Given the description of an element on the screen output the (x, y) to click on. 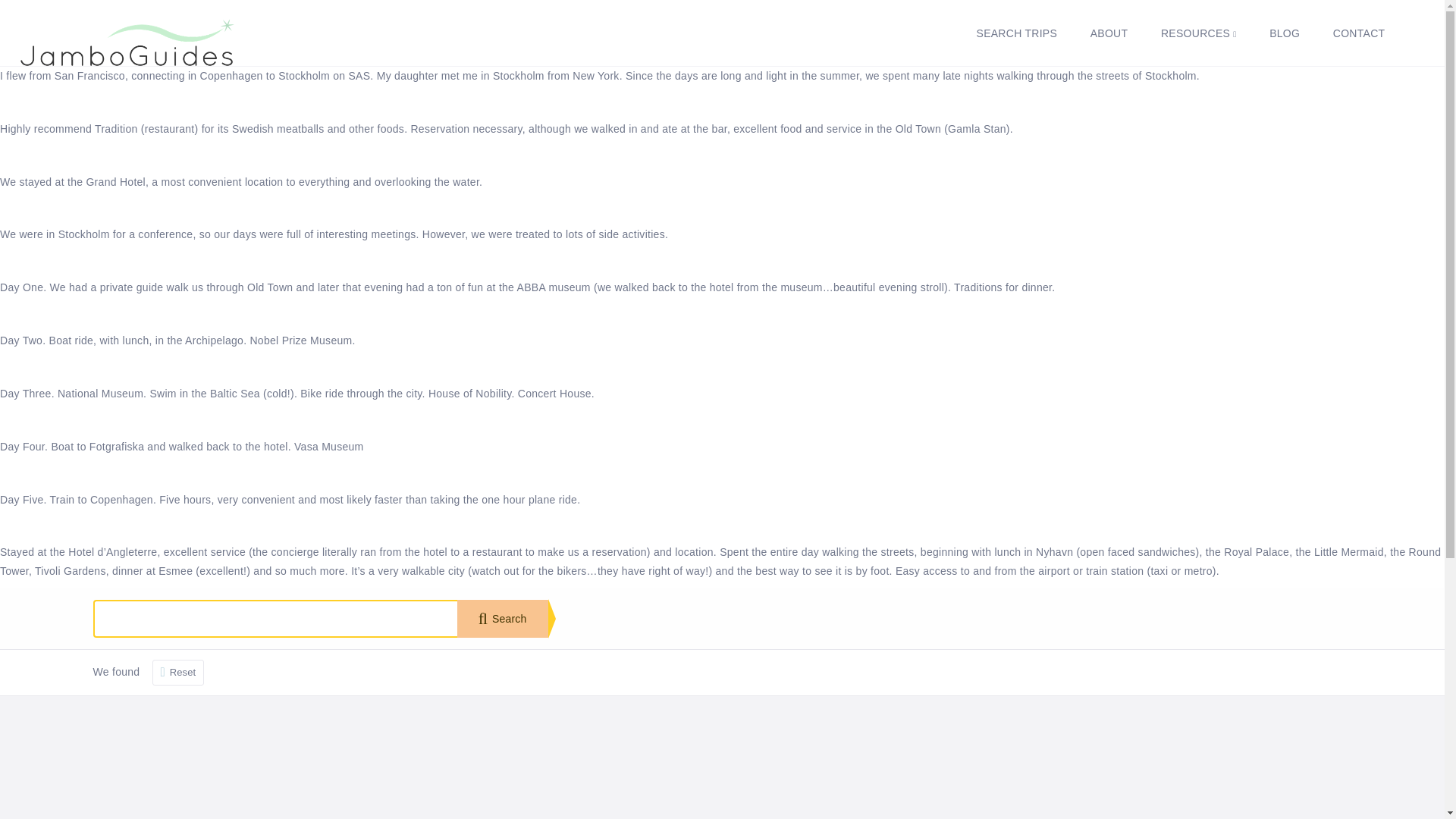
SEARCH TRIPS (1016, 33)
CONTACT (1358, 33)
Search (502, 618)
ABOUT (1108, 33)
Reset (178, 672)
BLOG (1283, 33)
RESOURCES (1198, 33)
